Given the description of an element on the screen output the (x, y) to click on. 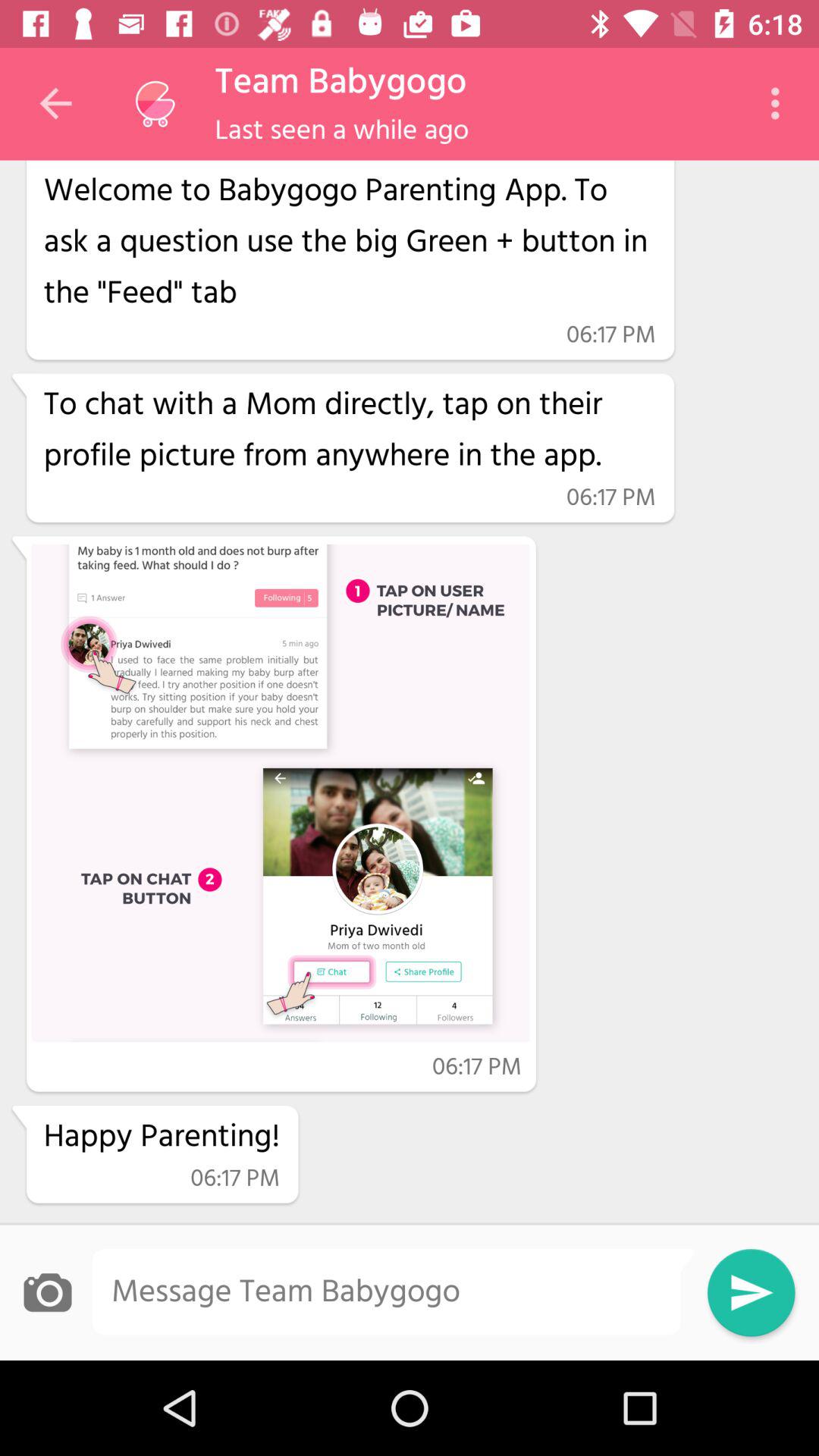
message send play button (751, 1292)
